Given the description of an element on the screen output the (x, y) to click on. 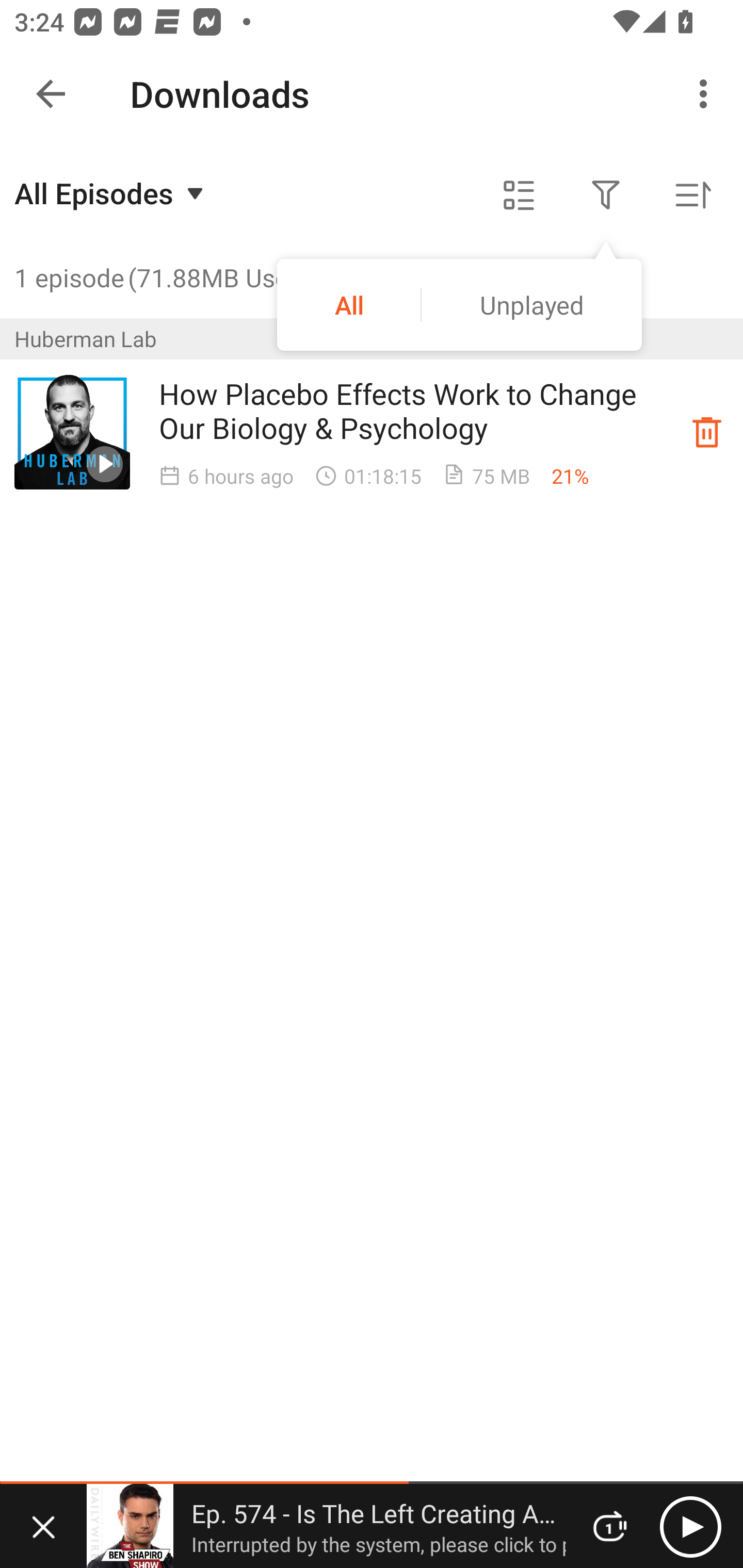
All (349, 304)
Unplayed (531, 304)
